Given the description of an element on the screen output the (x, y) to click on. 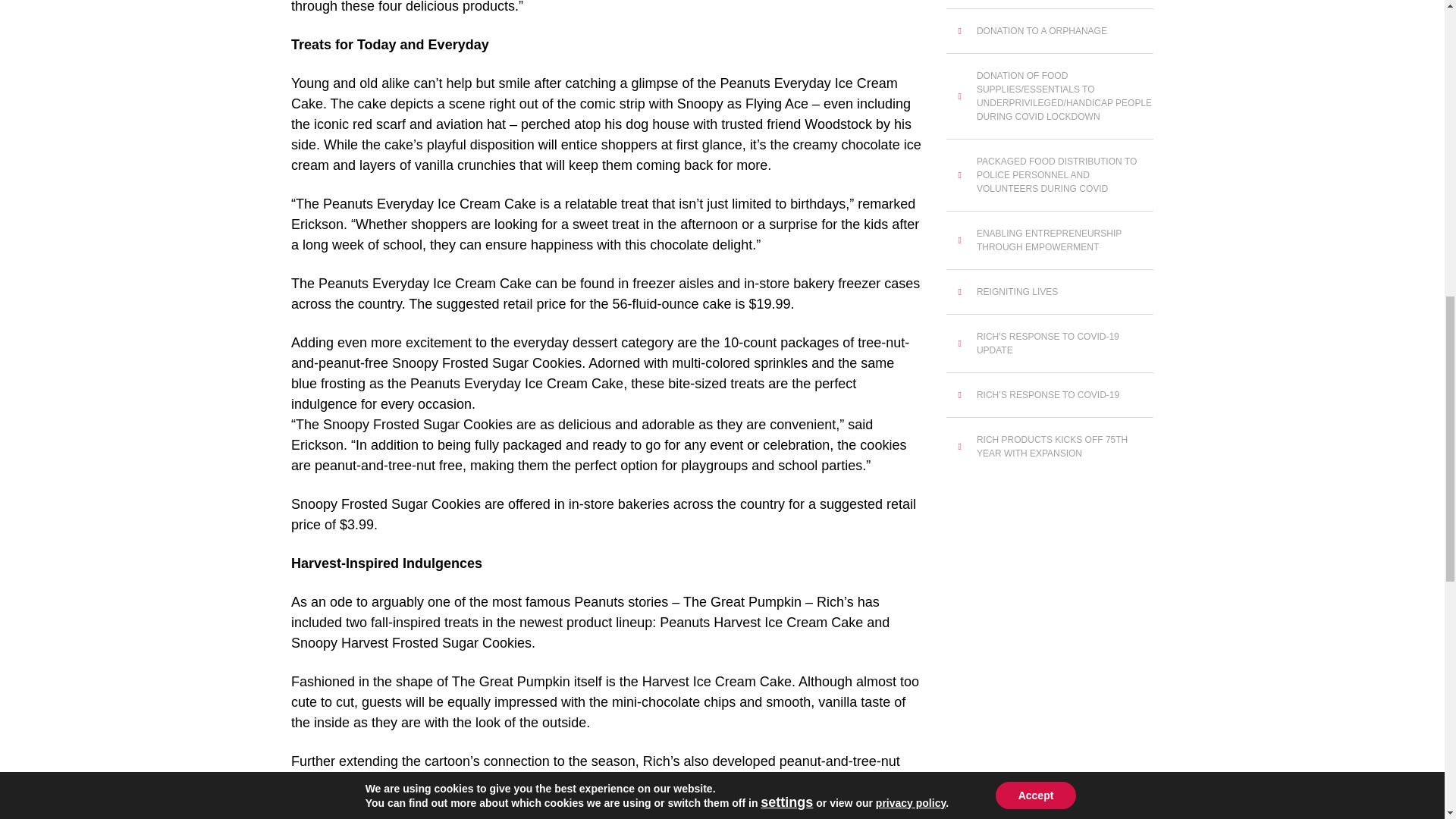
DONATION TO A ORPHANAGE (1050, 31)
ENABLING ENTREPRENEURSHIP THROUGH EMPOWERMENT (1050, 240)
RICH PRODUCTS KICKS OFF 75TH YEAR WITH EXPANSION (1050, 446)
RICH'S RESPONSE TO COVID-19 UPDATE (1050, 343)
REIGNITING LIVES (1050, 291)
